Given the description of an element on the screen output the (x, y) to click on. 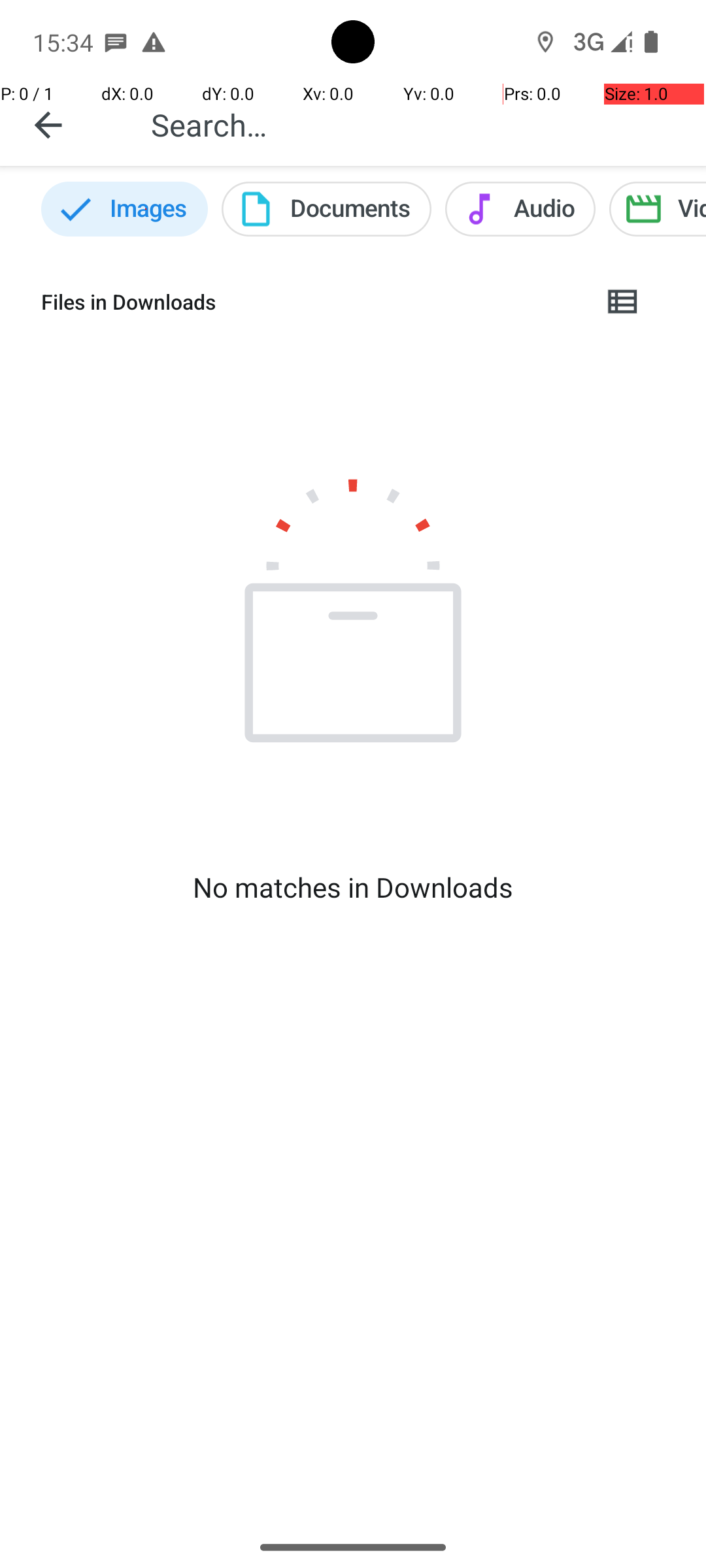
Files in Downloads Element type: android.widget.TextView (311, 301)
List view Element type: android.widget.TextView (622, 301)
Search… Element type: android.widget.AutoCompleteTextView (414, 124)
Images Element type: android.widget.CompoundButton (124, 208)
Documents Element type: android.widget.CompoundButton (326, 208)
Audio Element type: android.widget.CompoundButton (520, 208)
Videos Element type: android.widget.CompoundButton (657, 208)
No matches in Downloads Element type: android.widget.TextView (352, 886)
